Given the description of an element on the screen output the (x, y) to click on. 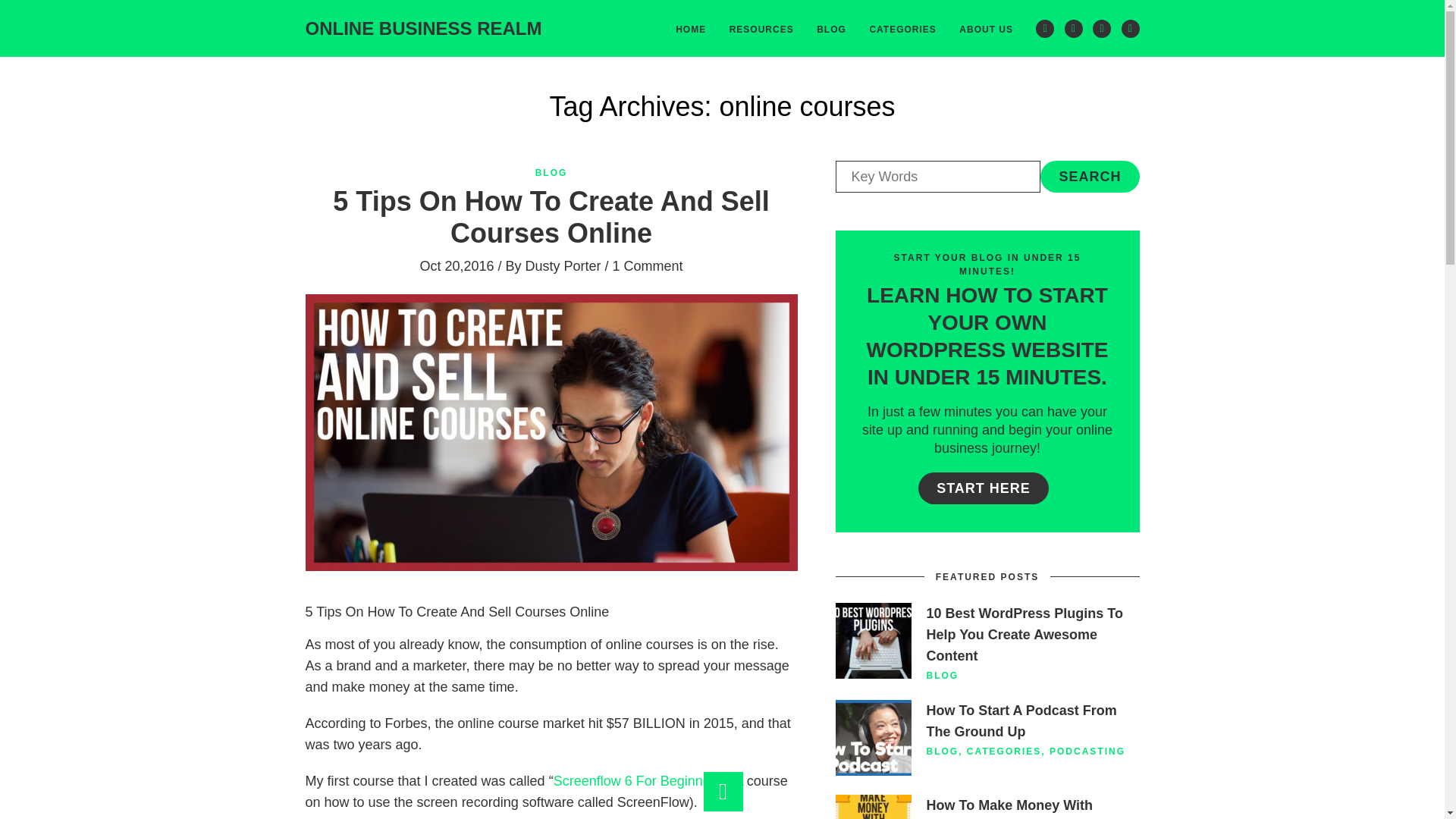
Dusty Porter (561, 265)
CATEGORIES (1003, 751)
5 Tips On How To Create And Sell Courses Online (550, 216)
ABOUT US (986, 28)
CATEGORIES (902, 28)
RESOURCES (762, 28)
Screenflow 6 For Beginners (637, 780)
PODCASTING (1087, 751)
10 Best WordPress Plugins To Help You Create Awesome Content (1024, 634)
BLOG (551, 172)
BLOG (942, 675)
Search (1089, 176)
ONLINE BUSINESS REALM (422, 28)
HOME (690, 28)
Posts by Dusty Porter (561, 265)
